Given the description of an element on the screen output the (x, y) to click on. 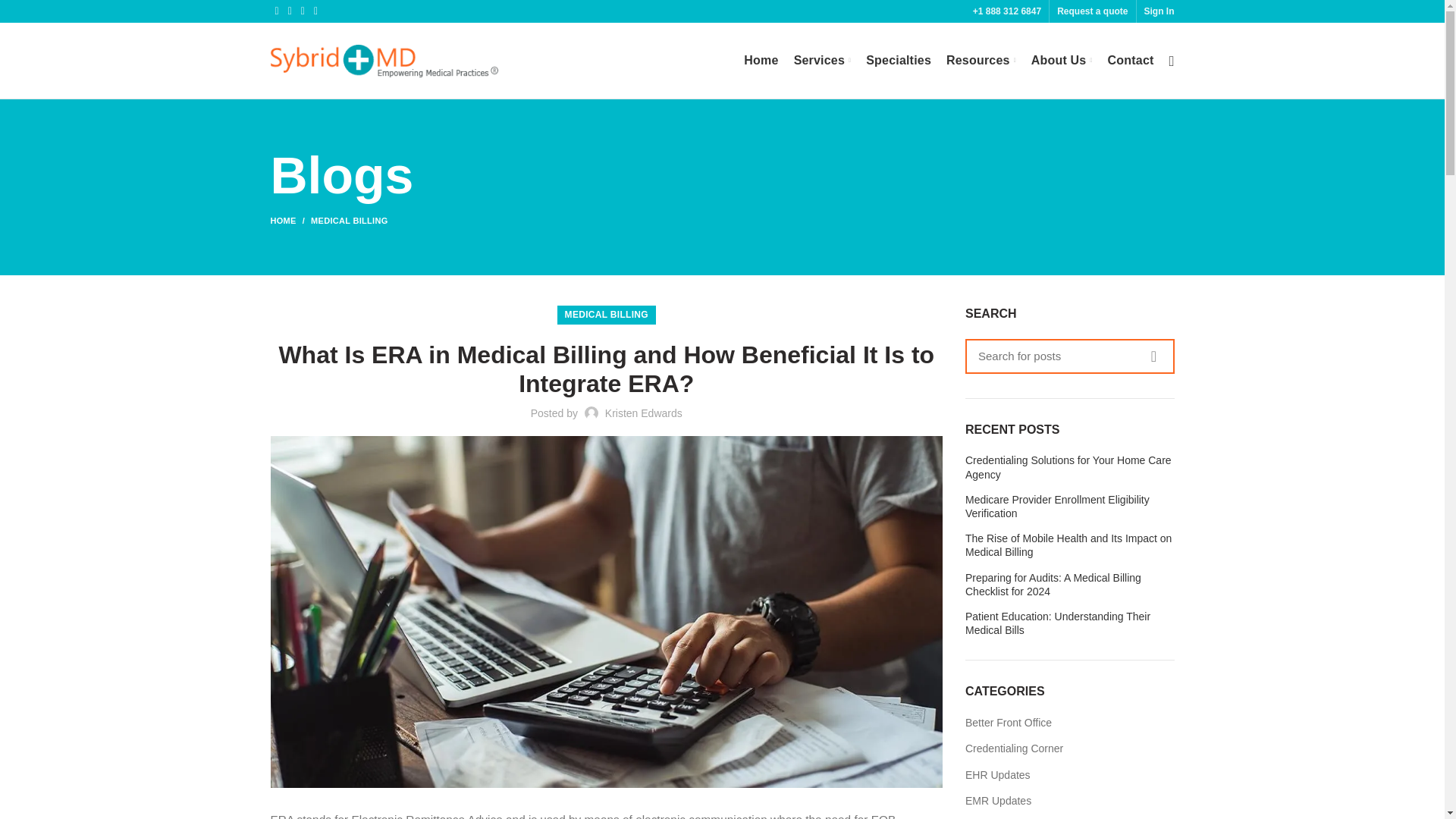
Request a quote (1091, 10)
Resources (981, 60)
Specialties (899, 60)
About Us (1061, 60)
Services (822, 60)
Contact (1130, 60)
Sign In (1157, 10)
Home (761, 60)
